Given the description of an element on the screen output the (x, y) to click on. 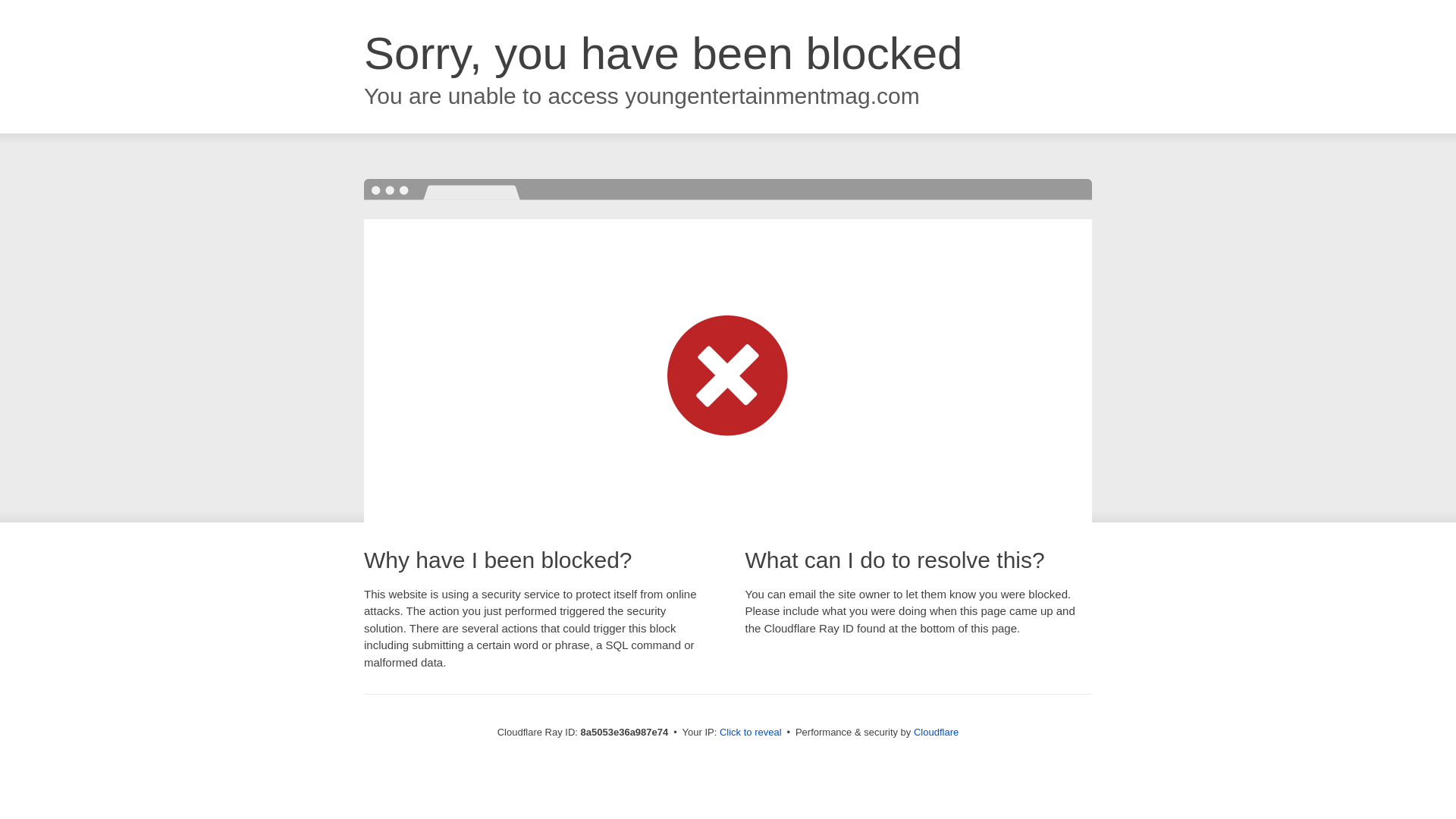
Cloudflare (936, 731)
Click to reveal (750, 732)
